Given the description of an element on the screen output the (x, y) to click on. 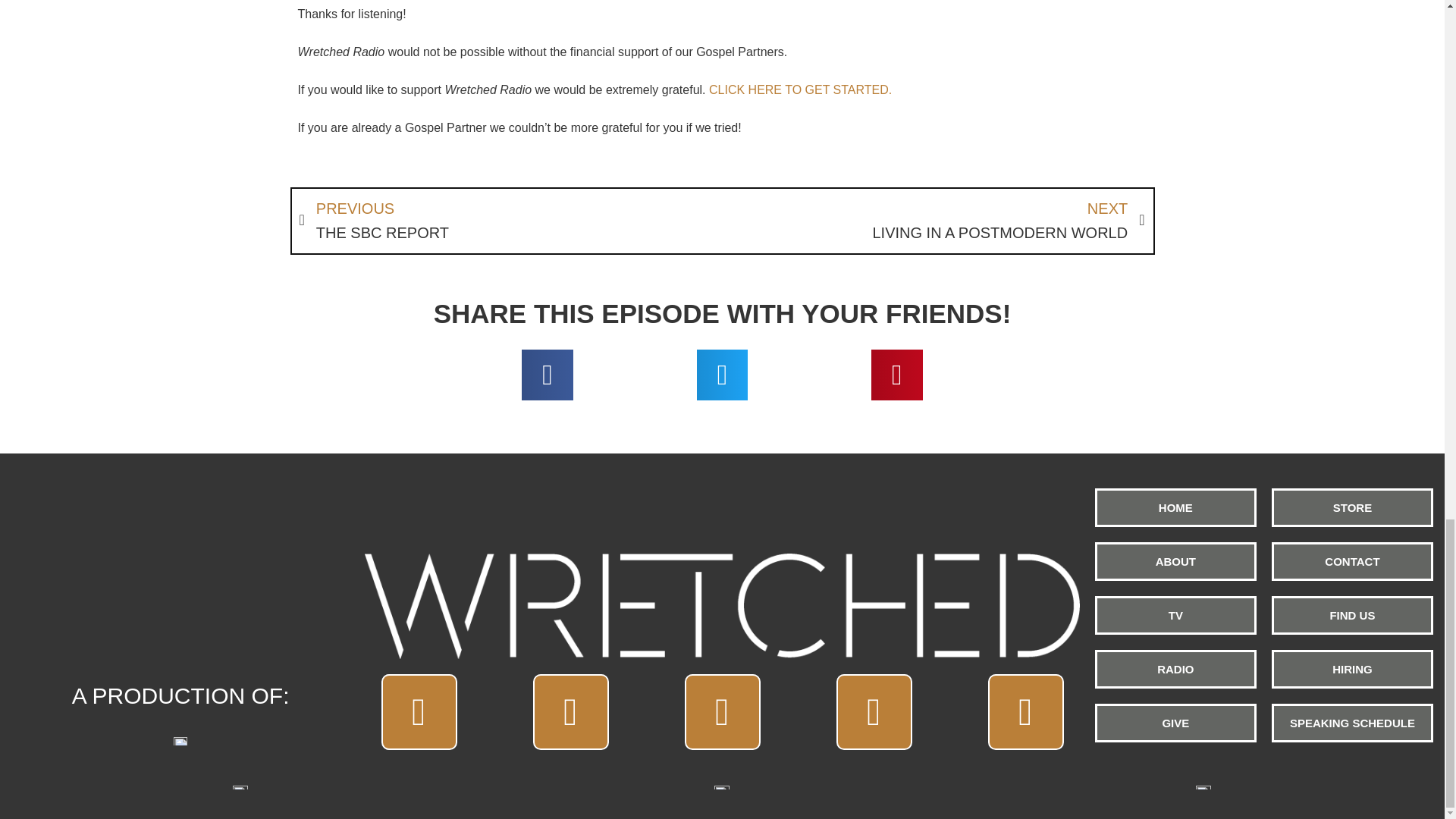
CLICK HERE TO GET STARTED. (933, 220)
